Given the description of an element on the screen output the (x, y) to click on. 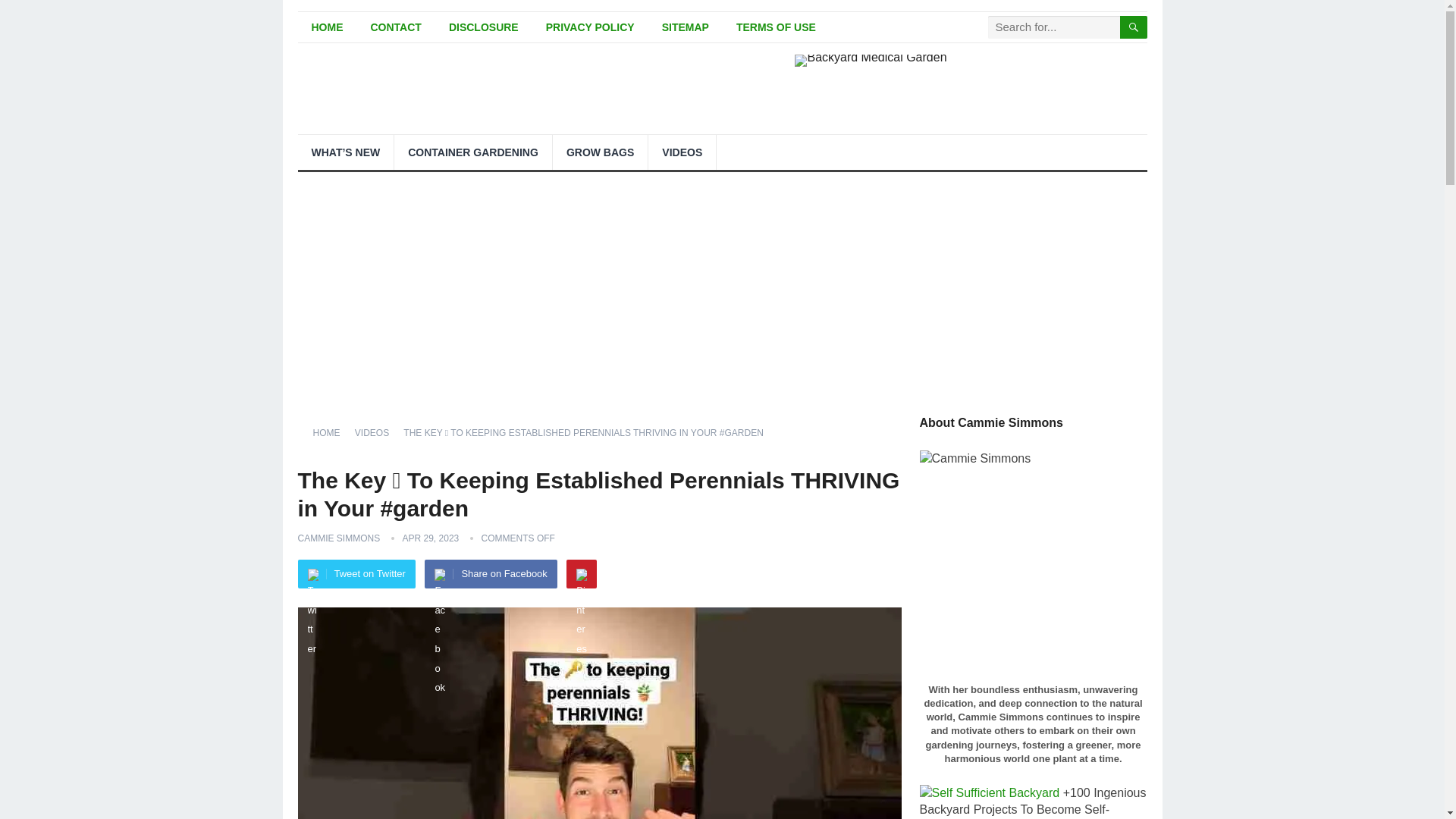
VIDEOS (681, 152)
HOME (331, 432)
HOME (326, 27)
SITEMAP (684, 27)
CONTAINER GARDENING (472, 152)
GROW BAGS (600, 152)
Pinterest (581, 573)
TERMS OF USE (775, 27)
PRIVACY POLICY (589, 27)
